Given the description of an element on the screen output the (x, y) to click on. 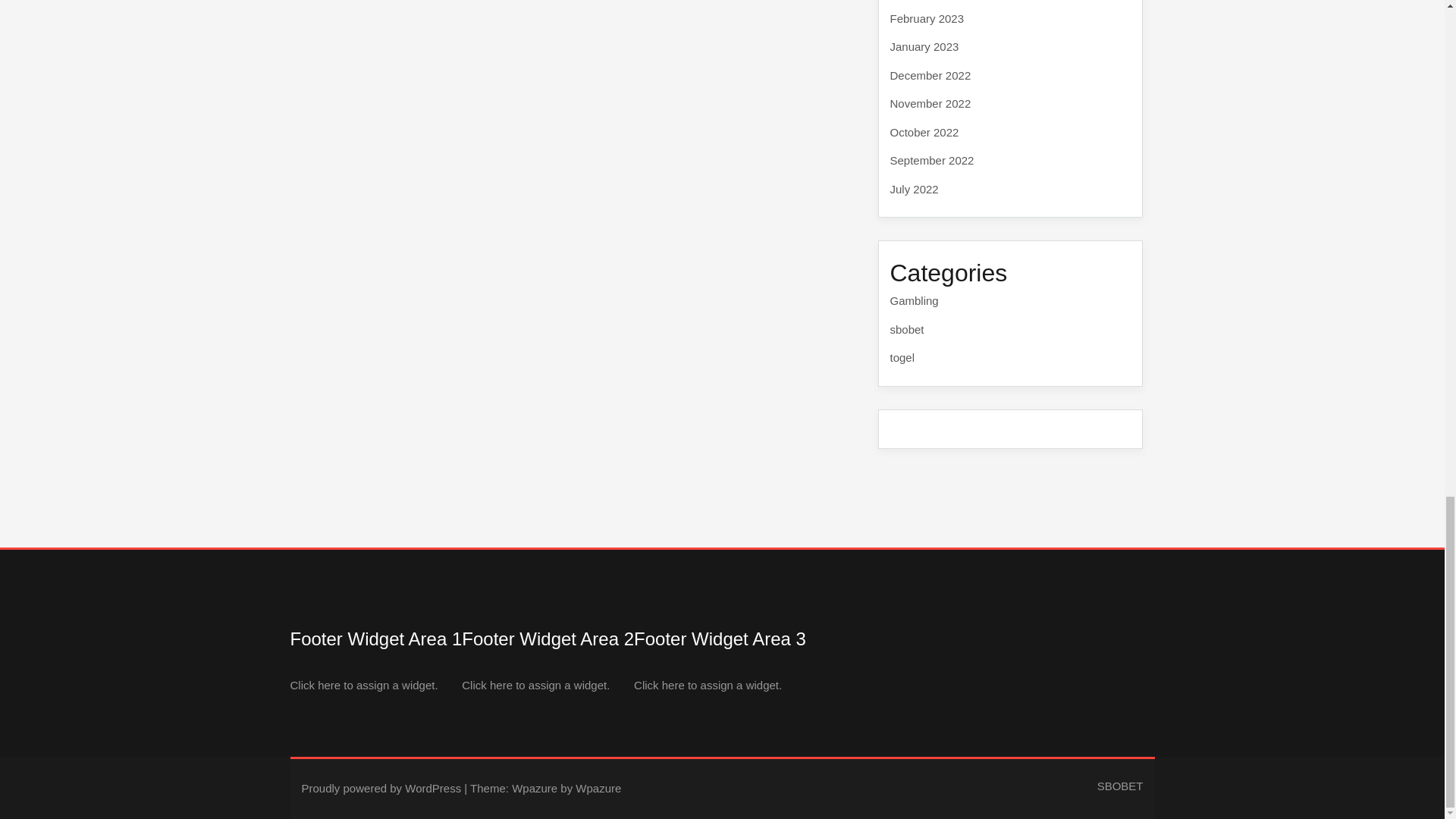
February 2023 (926, 17)
November 2022 (930, 103)
SBOBET (1119, 785)
December 2022 (930, 74)
sbobet (906, 328)
January 2023 (924, 46)
September 2022 (931, 160)
Gambling (914, 300)
October 2022 (924, 131)
July 2022 (914, 188)
